Given the description of an element on the screen output the (x, y) to click on. 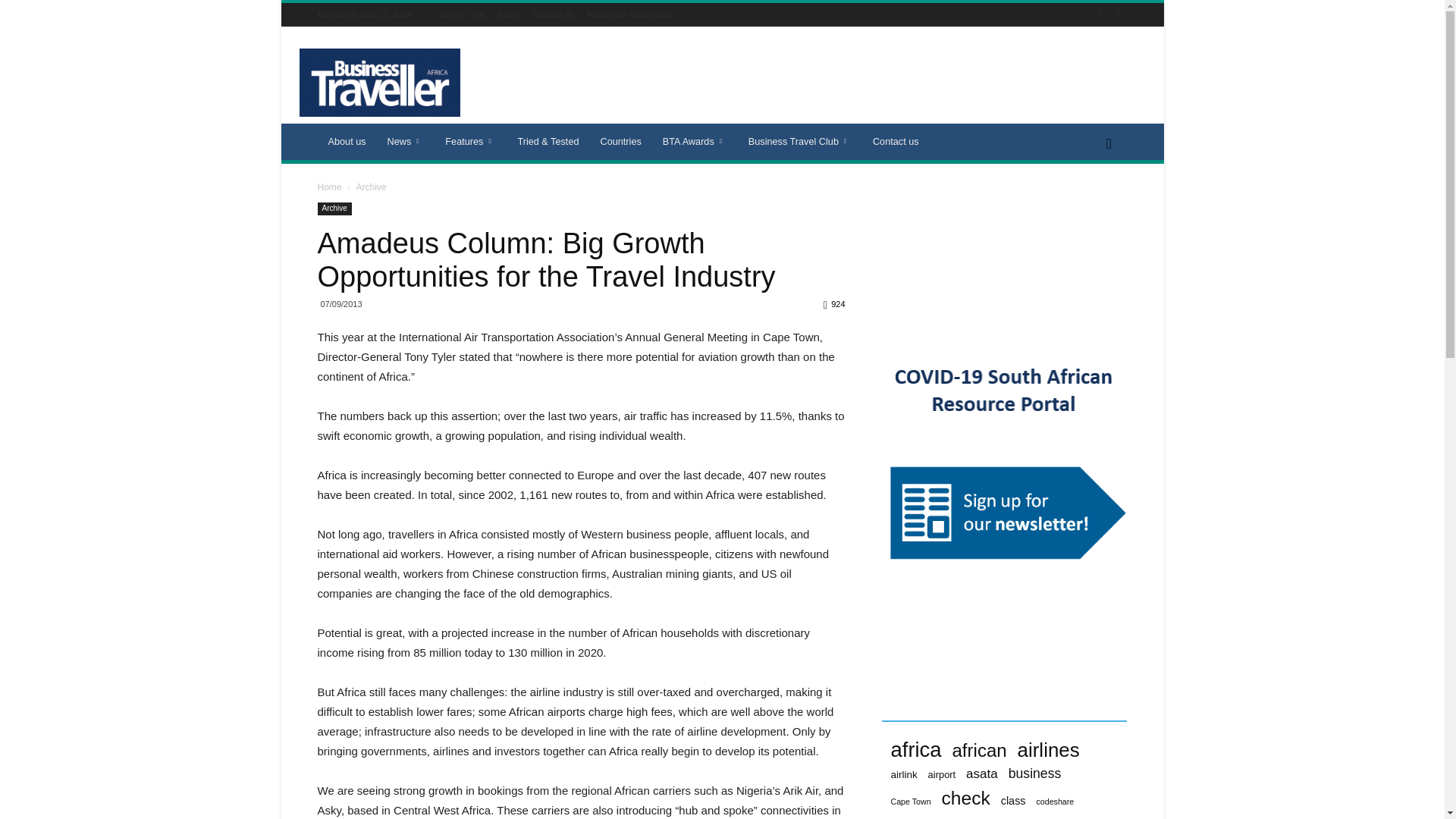
YouTube video player (994, 259)
View all posts in Archive (370, 186)
Facebook (1099, 13)
Newsletter Subscription (631, 13)
News (406, 141)
News (507, 13)
Contact us (552, 13)
About us (346, 141)
Twitter (1117, 13)
